Given the description of an element on the screen output the (x, y) to click on. 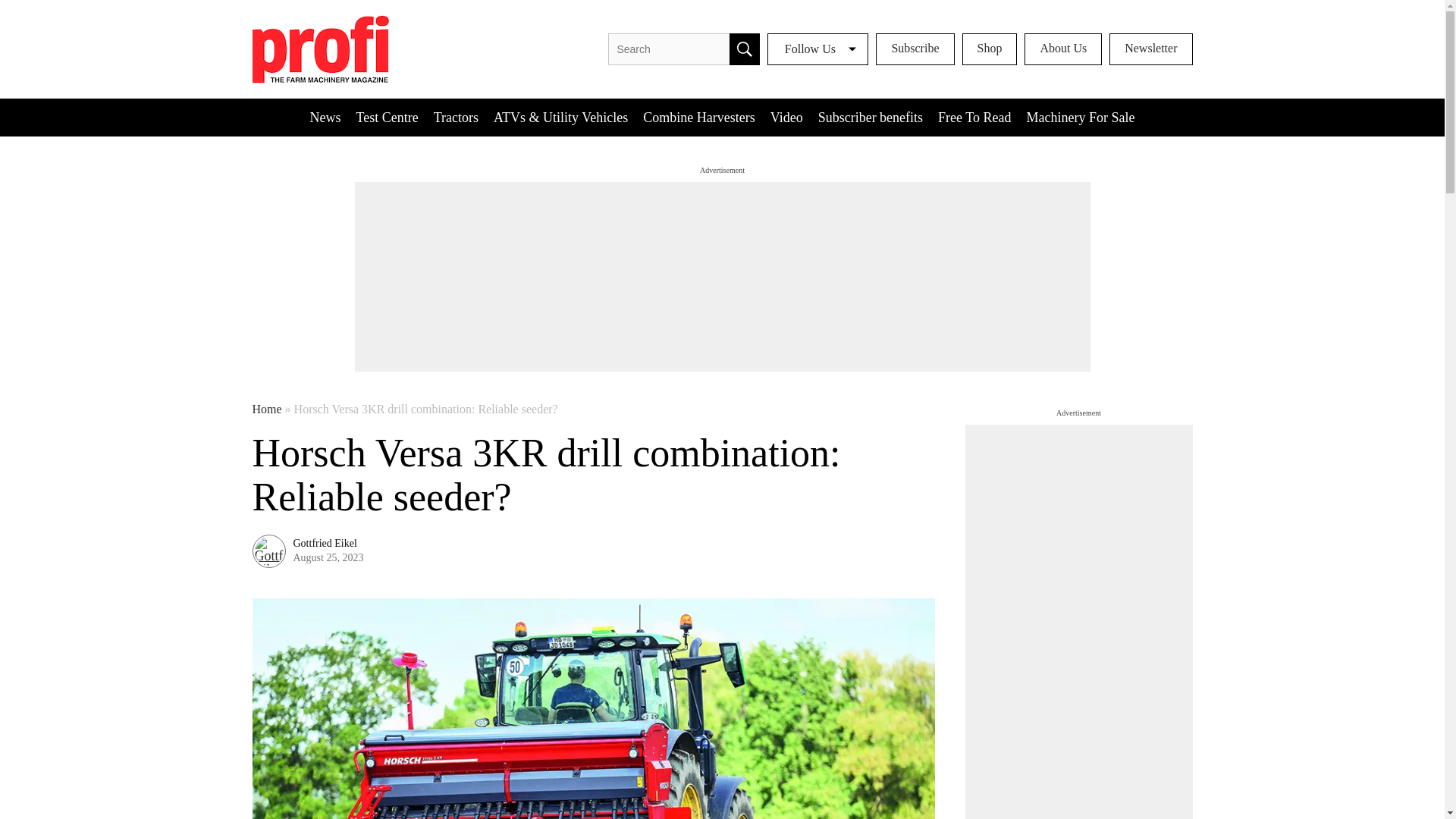
Free To Read (973, 117)
Subscribe (914, 49)
Follow Us (817, 49)
Machinery For Sale (1080, 117)
Tractors (456, 117)
Search (744, 49)
Test Centre (387, 117)
Newsletter (1150, 49)
Shop (988, 49)
News (325, 117)
Subscriber benefits (870, 117)
Video (786, 117)
About Us (1063, 49)
Home (266, 409)
Combine Harvesters (697, 117)
